Given the description of an element on the screen output the (x, y) to click on. 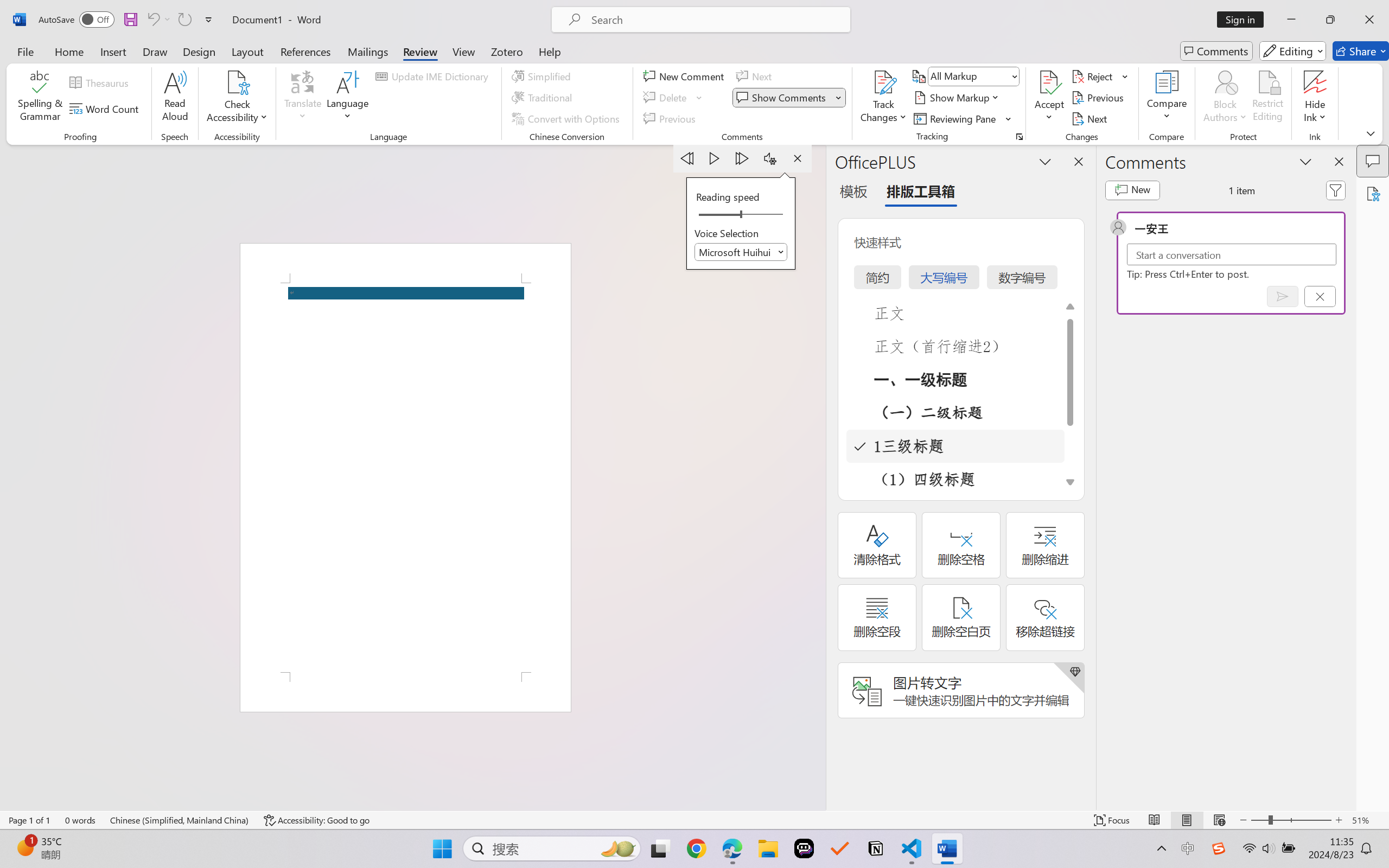
Traditional (543, 97)
Block Authors (1224, 97)
Track Changes (883, 97)
Stop (797, 158)
Undo Apply Quick Style Set (158, 19)
Hide Ink (1315, 81)
